Given the description of an element on the screen output the (x, y) to click on. 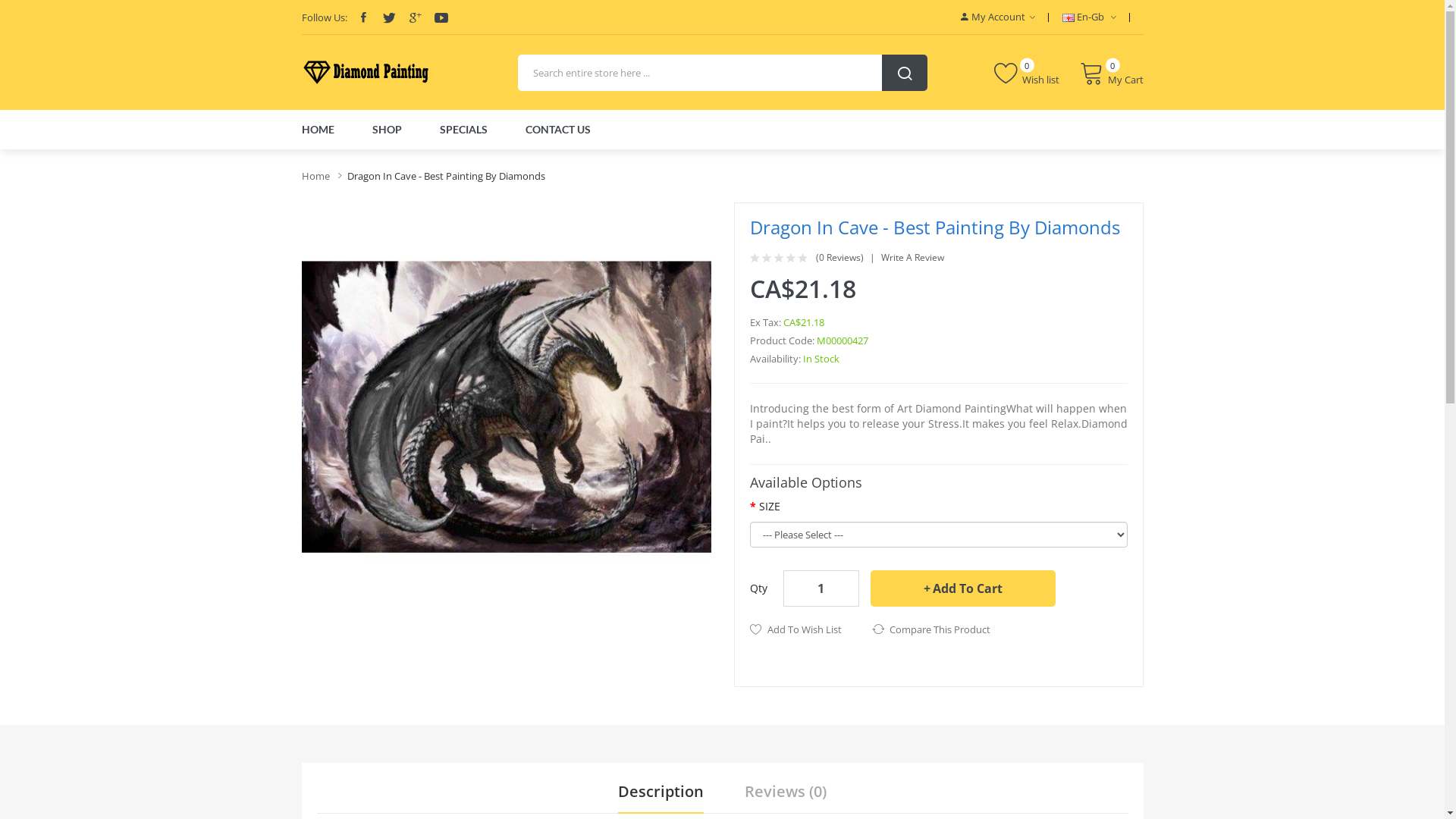
Add To Cart Element type: text (962, 588)
Vape kits Element type: text (697, 156)
En-Gb Element type: text (1088, 17)
Home Element type: text (315, 175)
Google Element type: hover (414, 17)
(0 Reviews) Element type: text (845, 257)
HOME Element type: text (325, 129)
Youtube Element type: hover (440, 17)
E-Liquid Element type: text (577, 156)
Disposable E-Cigs Element type: text (510, 156)
Facebook Element type: hover (362, 17)
E-Liquid Element type: text (398, 156)
Dragon In Cave - Best Painting By Diamonds Element type: text (446, 175)
0
My Cart Element type: text (1111, 72)
English Element type: hover (1067, 17)
5ddiamondpainting Element type: hover (365, 72)
Add To Wish List Element type: text (794, 629)
Write A Review Element type: text (912, 257)
Vape CBDs Element type: text (747, 156)
Twitter Element type: hover (388, 17)
SPECIALS Element type: text (463, 129)
Wish list
0 Element type: text (1025, 72)
E-Liquids Element type: text (441, 156)
Reviews (0) Element type: text (785, 791)
CONTACT US Element type: text (557, 129)
Compare This Product Element type: text (931, 629)
Description Element type: text (660, 791)
Vape hardware Element type: text (635, 156)
My Account Element type: text (997, 17)
Dragon In Cave - Best Painting By Diamonds Element type: hover (506, 406)
SHOP Element type: text (386, 129)
